Given the description of an element on the screen output the (x, y) to click on. 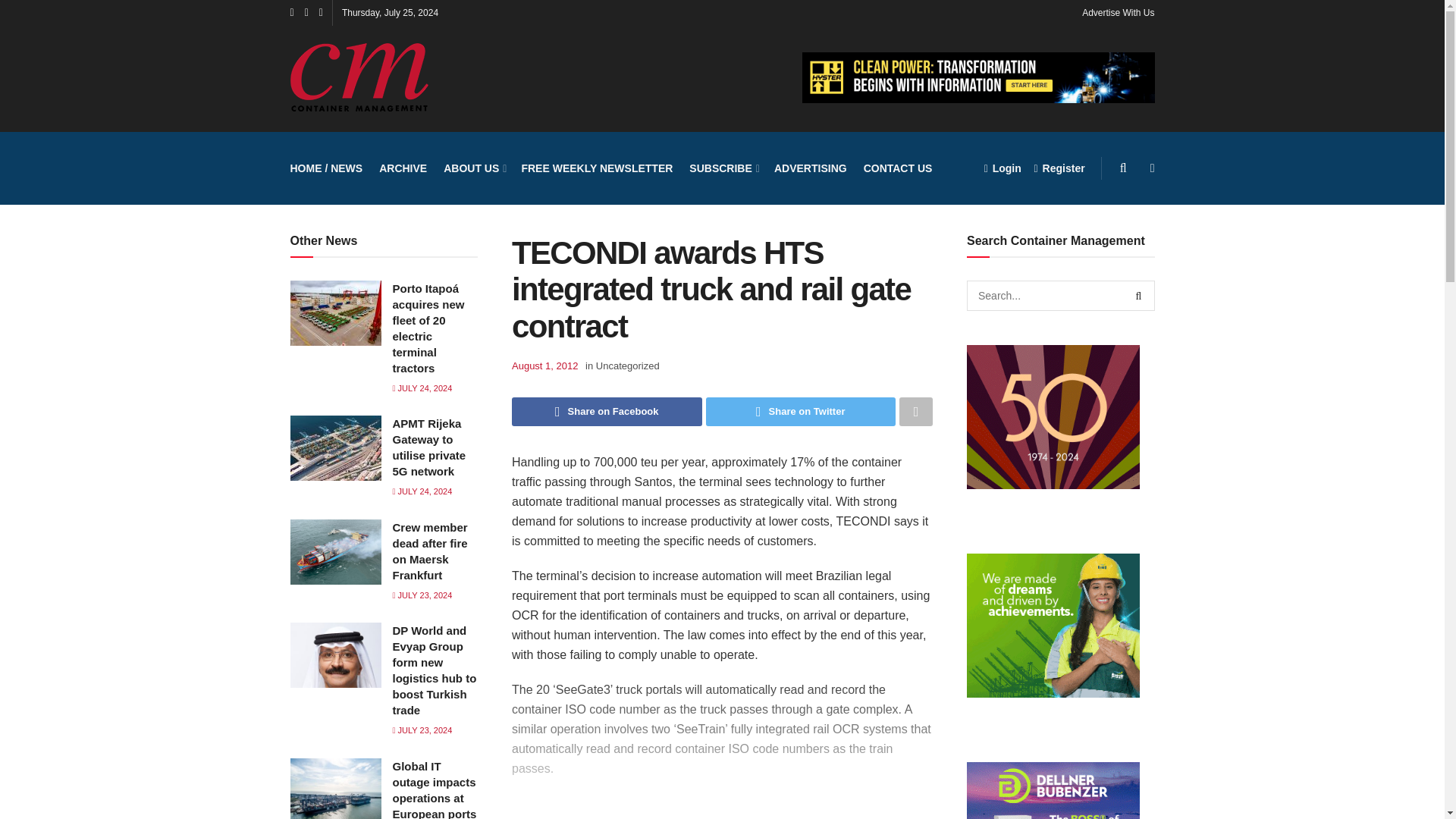
CONTACT US (898, 168)
Share on Twitter (799, 411)
ARCHIVE (402, 168)
August 1, 2012 (545, 365)
FREE WEEKLY NEWSLETTER (596, 168)
Advertise With Us (1117, 12)
ABOUT US (473, 168)
Share on Facebook (606, 411)
ADVERTISING (810, 168)
SUBSCRIBE (722, 168)
